Given the description of an element on the screen output the (x, y) to click on. 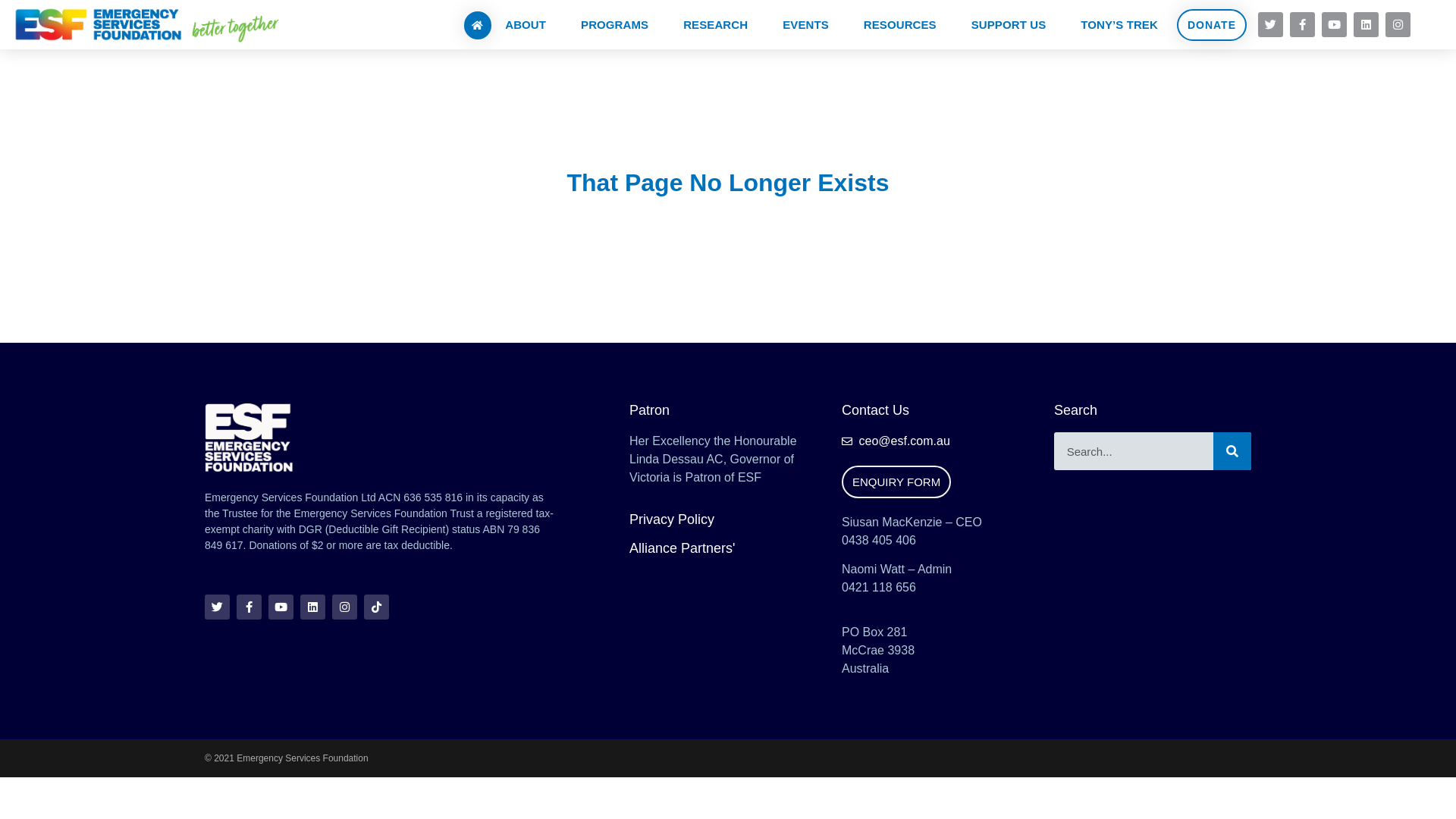
RESEARCH Element type: text (718, 24)
ABOUT Element type: text (528, 24)
PROGRAMS Element type: text (618, 24)
SUPPORT US Element type: text (1012, 24)
DONATE Element type: text (1211, 24)
ceo@esf.com.au Element type: text (939, 441)
Alliance Partners' Element type: text (682, 547)
Privacy Policy Element type: text (671, 519)
ENQUIRY FORM Element type: text (895, 481)
Search Element type: hover (1232, 451)
Search Element type: hover (1133, 451)
RESOURCES Element type: text (903, 24)
EVENTS Element type: text (809, 24)
